Given the description of an element on the screen output the (x, y) to click on. 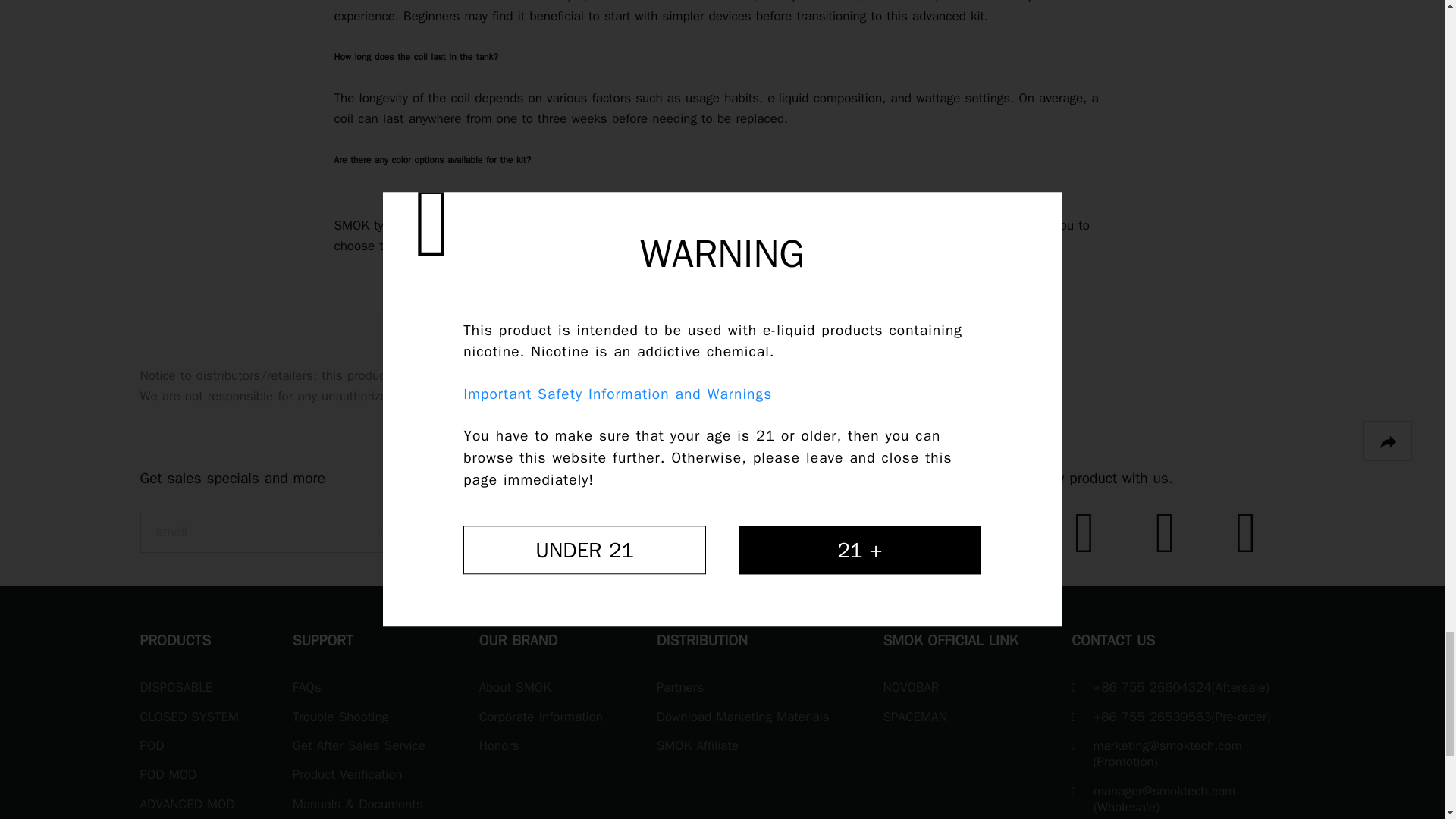
DISPOSABLE (175, 687)
Get After Sales Service (358, 745)
Trouble Shooting (340, 717)
About SMOK (515, 687)
Honors (499, 745)
ADVANCED MOD (186, 804)
Product Verification (347, 774)
SPACEMAN (914, 717)
Download Marketing Materials (742, 717)
POD (151, 745)
